Given the description of an element on the screen output the (x, y) to click on. 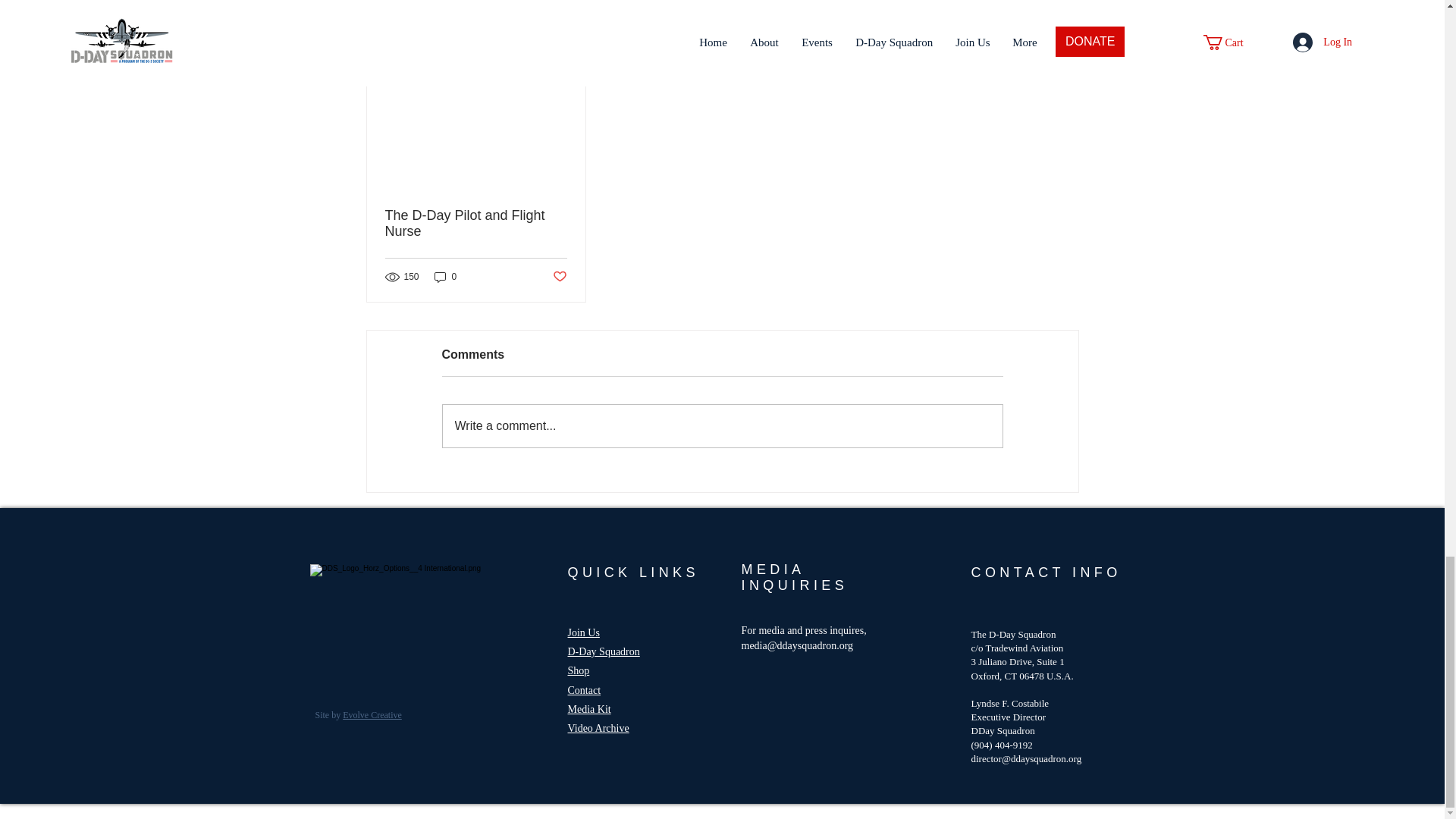
See All (1061, 39)
The D-Day Pilot and Flight Nurse (476, 223)
